Given the description of an element on the screen output the (x, y) to click on. 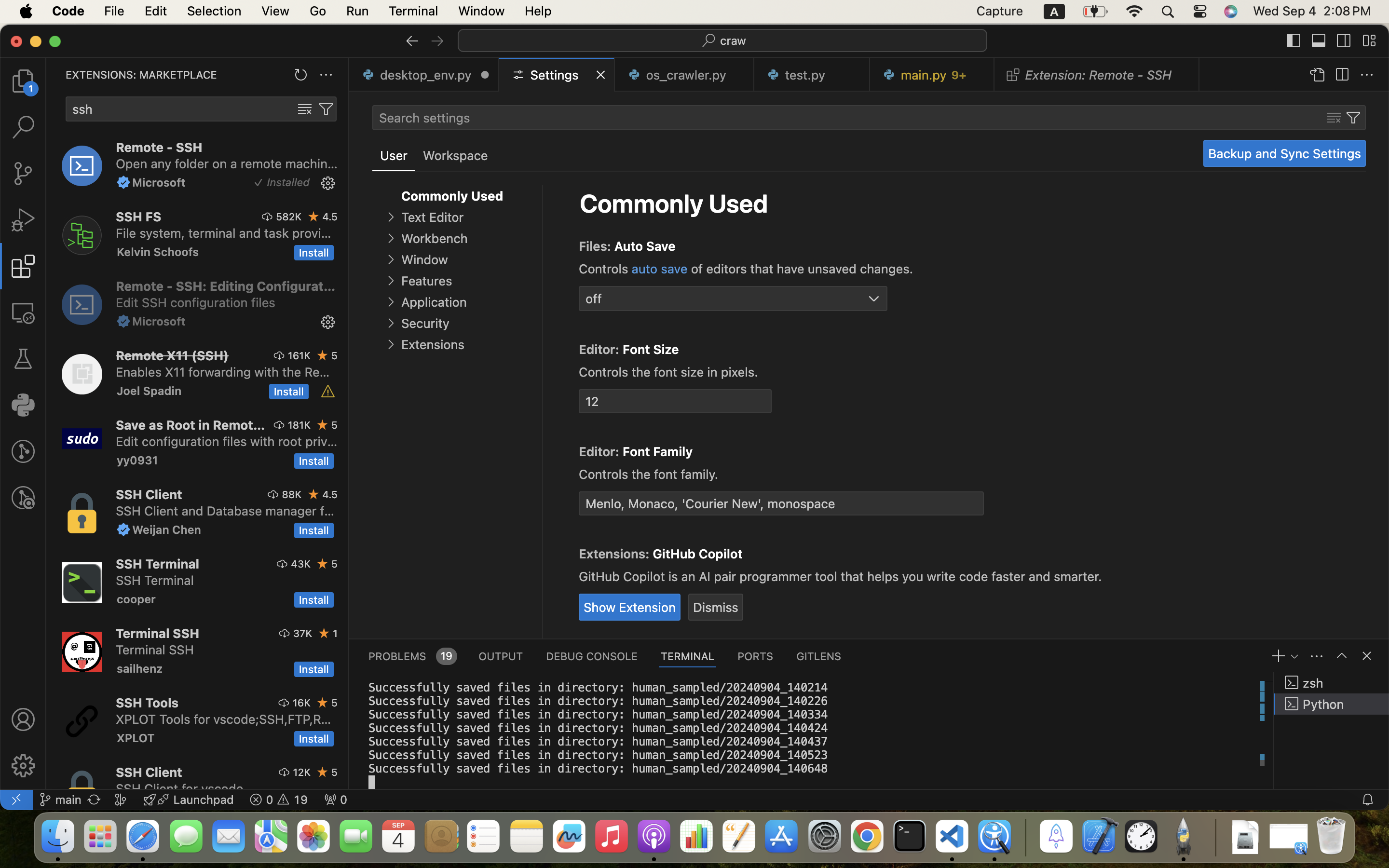
Remote - SSH Element type: AXStaticText (158, 146)
Weijan Chen Element type: AXStaticText (166, 529)
Controls the font size in pixels. Element type: AXStaticText (668, 371)
 Element type: AXButton (1369, 40)
XPLOT Tools for vscode;SSH,FTP,Remote Element type: AXStaticText (223, 718)
